Given the description of an element on the screen output the (x, y) to click on. 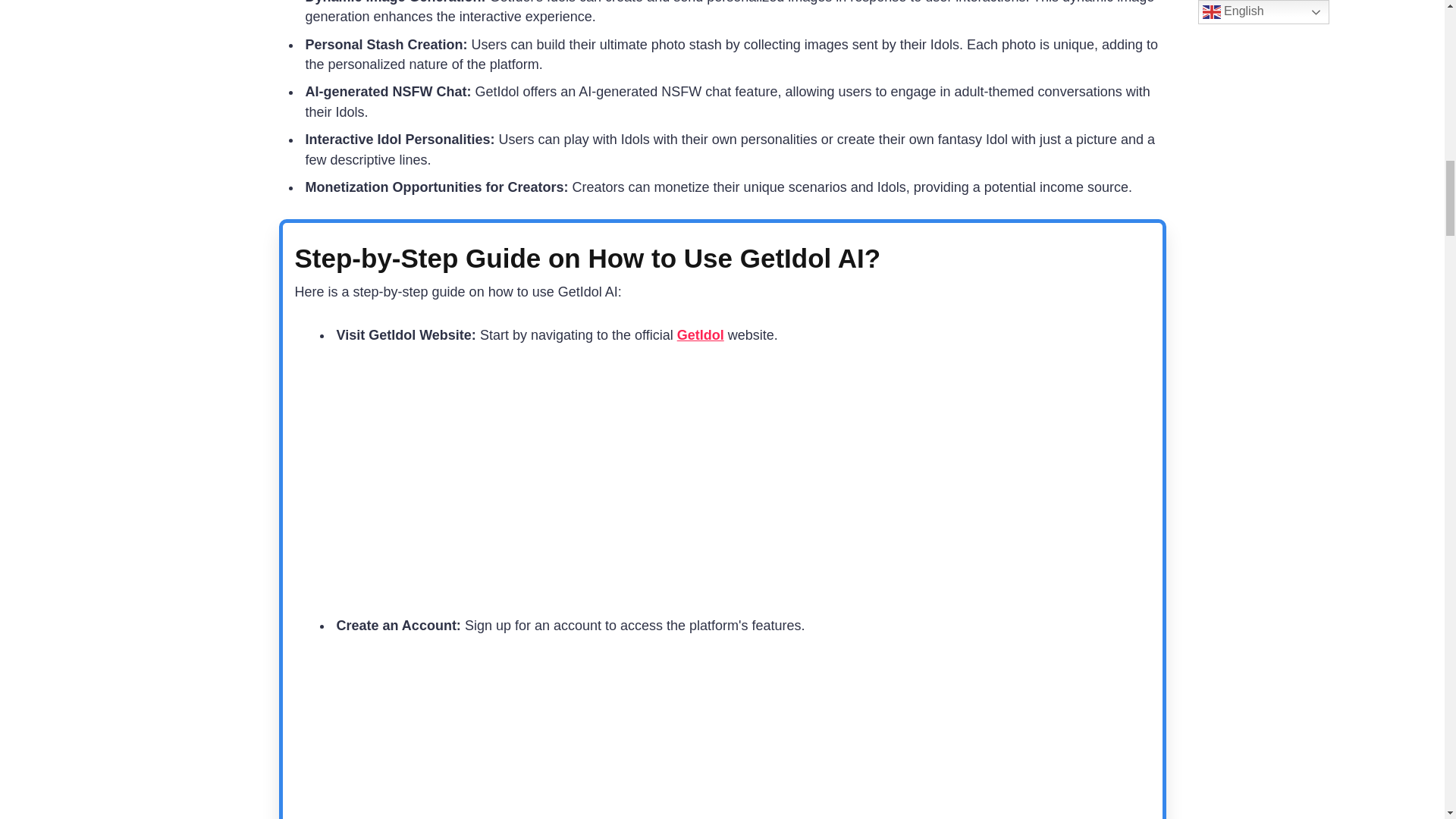
GetIdol (700, 335)
